Given the description of an element on the screen output the (x, y) to click on. 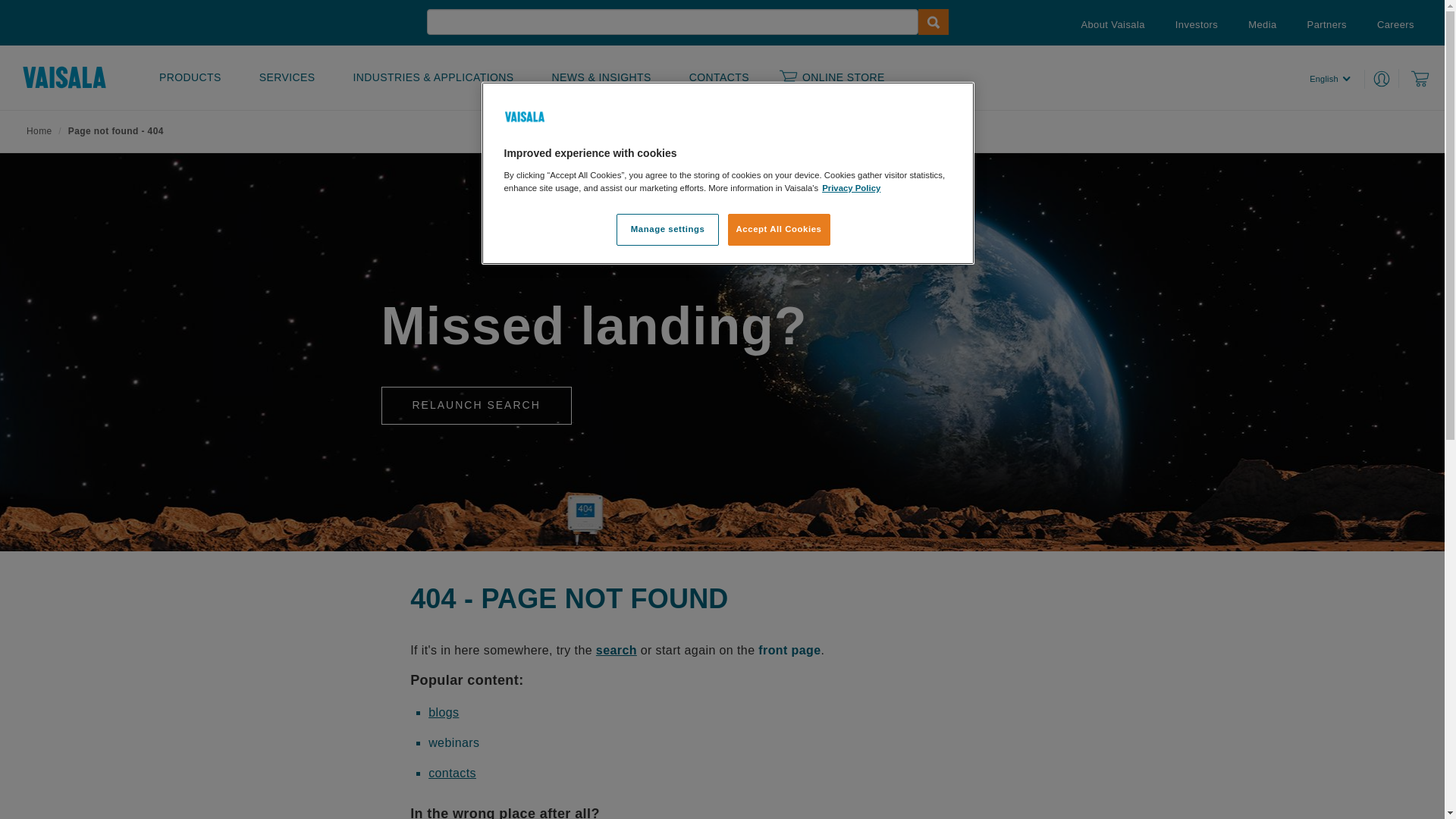
About Vaisala Element type: text (1112, 25)
CONTACTS Element type: text (719, 77)
Company Logo Element type: hover (524, 116)
contacts Element type: text (452, 772)
PRODUCTS Element type: text (190, 77)
Login to MyVaisala Element type: text (1385, 78)
Skip to main content Element type: text (0, 0)
RELAUNCH SEARCH Element type: text (475, 405)
Accept All Cookies Element type: text (779, 229)
Partners Element type: text (1326, 25)
Online Store Element type: text (1419, 78)
Media Element type: text (1262, 25)
INDUSTRIES & APPLICATIONS Element type: text (433, 77)
Careers Element type: text (1395, 25)
NEWS & INSIGHTS Element type: text (601, 77)
SERVICES Element type: text (287, 77)
webinars Element type: text (453, 742)
Home Element type: hover (64, 77)
blogs Element type: text (443, 712)
 front page Element type: text (787, 649)
Manage settings Element type: text (667, 229)
ONLINE STORE Element type: text (831, 77)
Investors Element type: text (1196, 25)
search Element type: text (616, 649)
Home Element type: text (39, 130)
Privacy Policy Element type: text (851, 187)
English Element type: text (1337, 78)
